Given the description of an element on the screen output the (x, y) to click on. 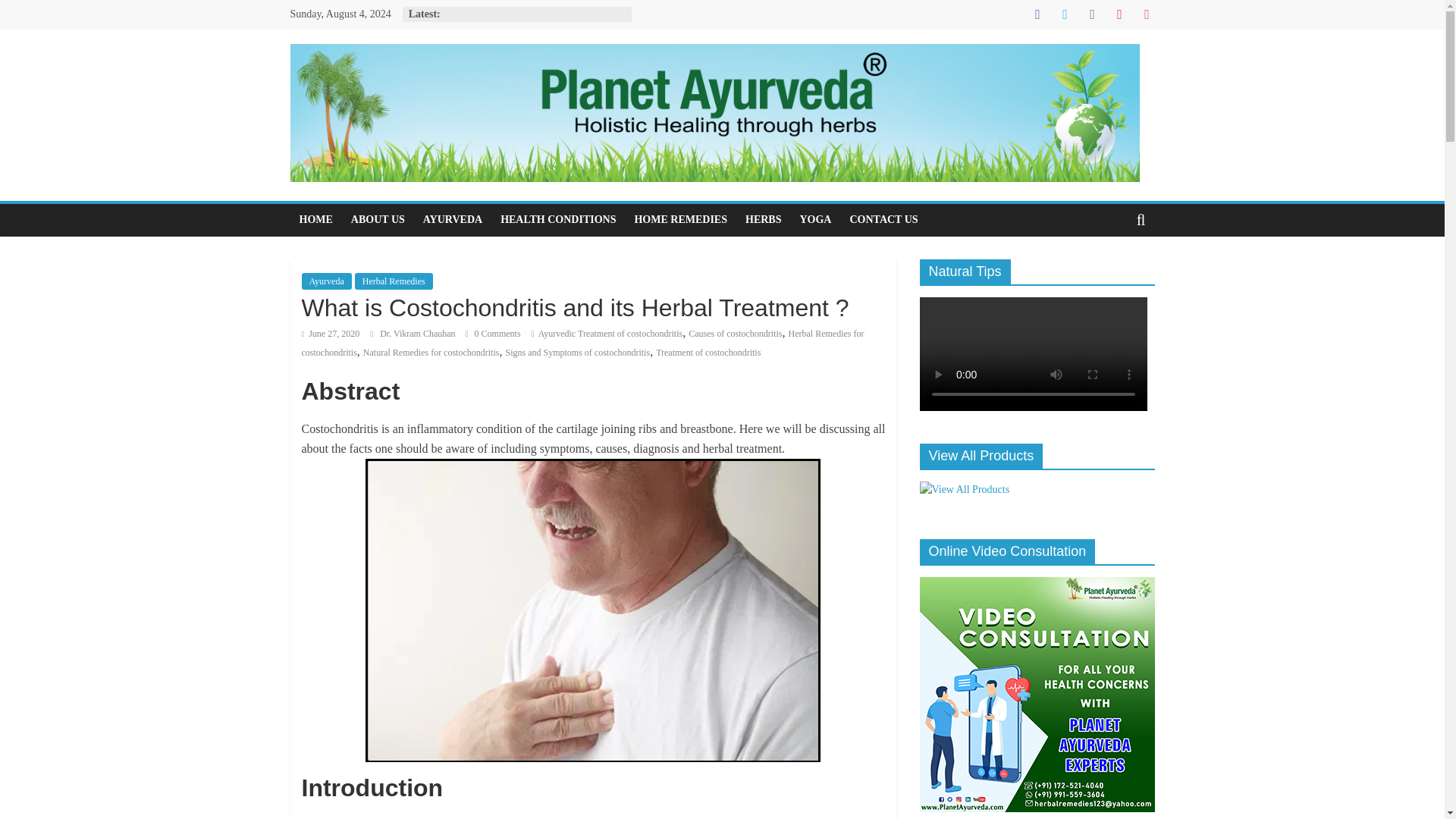
Herbal Remedies for costochondritis (582, 343)
YOGA (815, 219)
HOME REMEDIES (680, 219)
Ayurvedic Treatment of costochondritis (610, 333)
11:25 am (330, 333)
Treatment of costochondritis (708, 352)
CONTACT US (883, 219)
Causes of costochondritis (734, 333)
0 Comments (493, 333)
Dr. Vikram Chauhan (418, 333)
June 27, 2020 (330, 333)
Signs and Symptoms of costochondritis (577, 352)
HEALTH CONDITIONS (558, 219)
Ayurveda (326, 280)
